Given the description of an element on the screen output the (x, y) to click on. 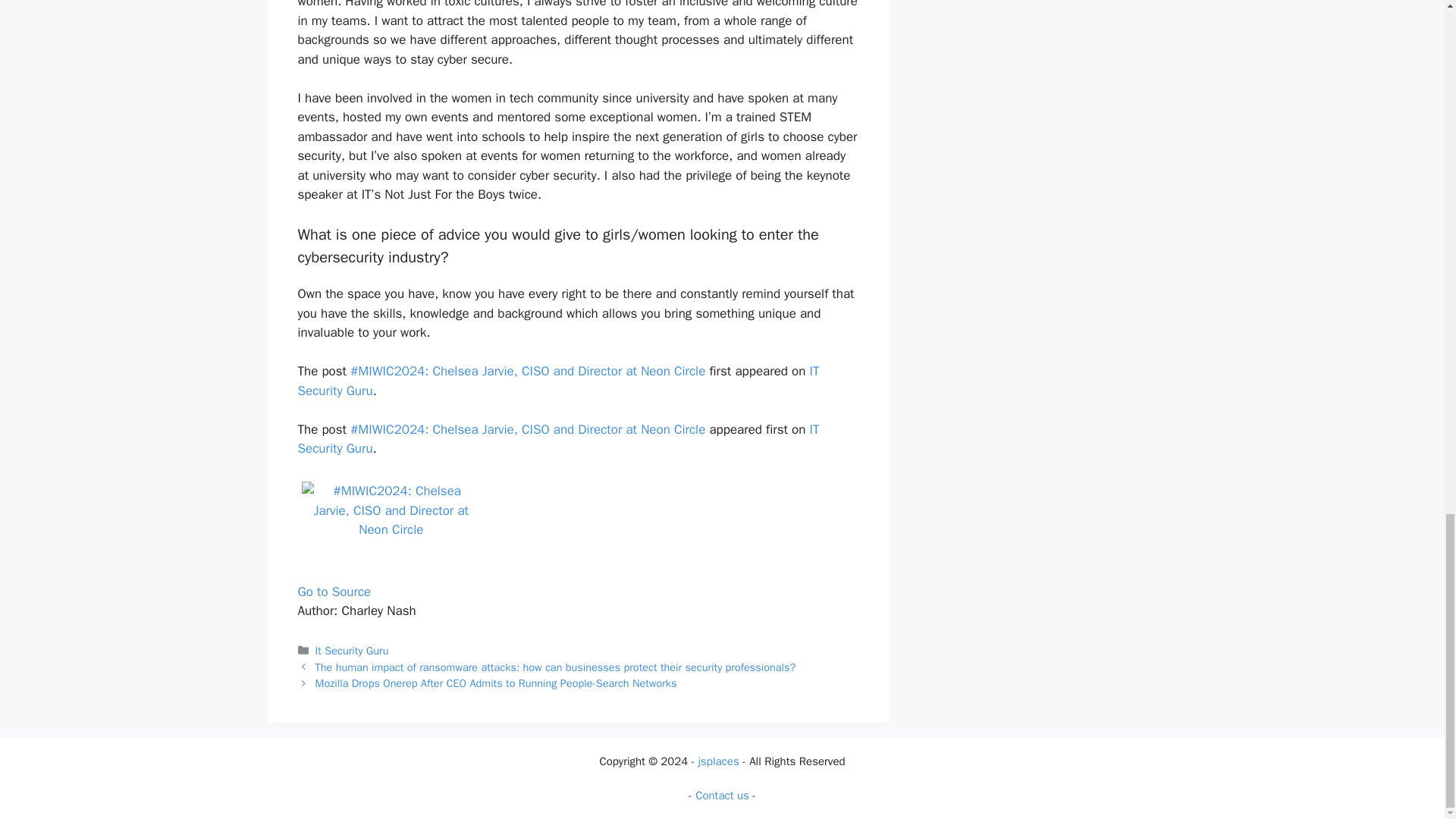
IT Security Guru (557, 439)
IT Security Guru (557, 380)
It Security Guru (351, 650)
Go to Source (334, 591)
Scroll back to top (1406, 138)
